Given the description of an element on the screen output the (x, y) to click on. 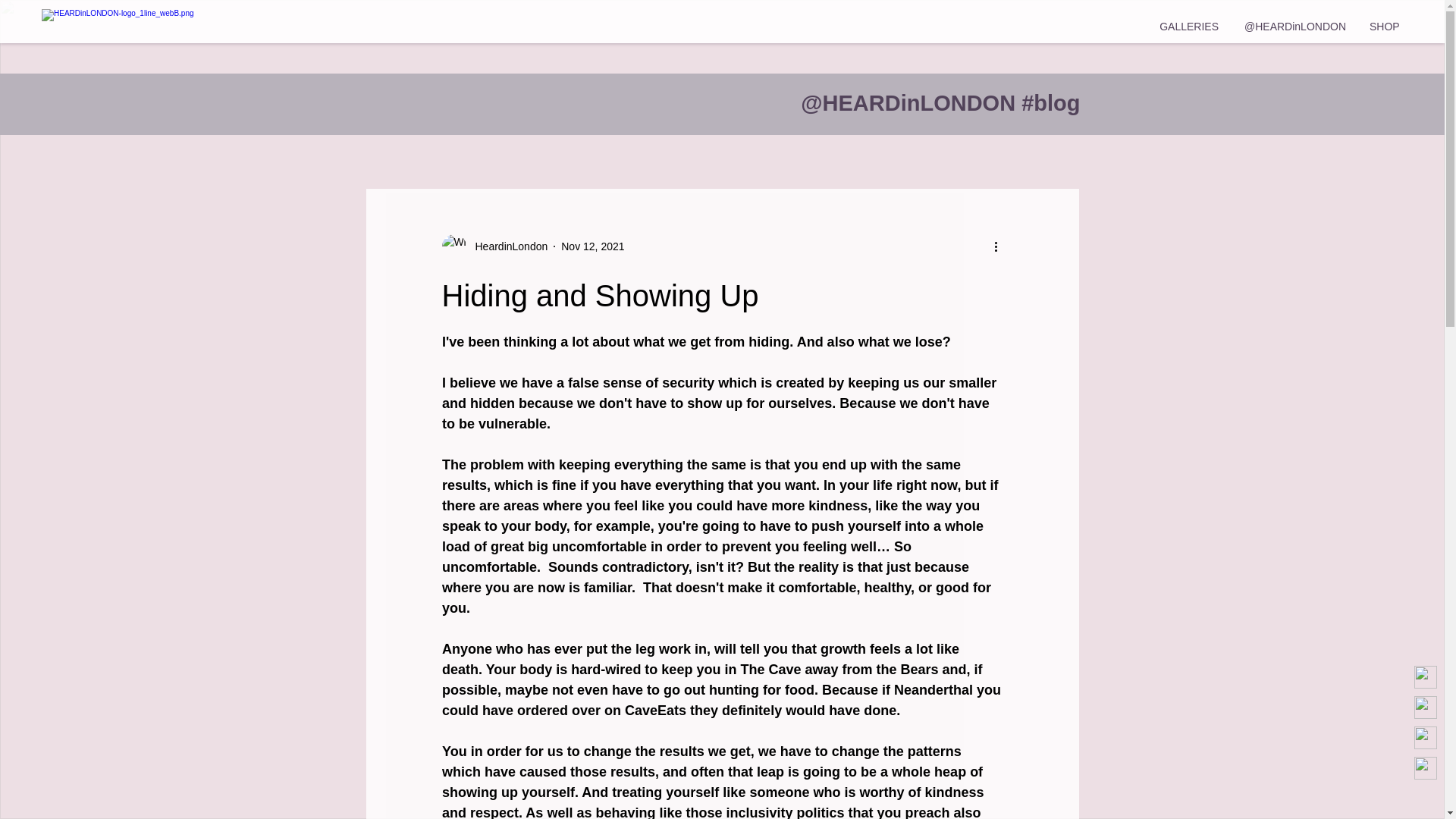
Nov 12, 2021 (592, 245)
HeardinLondon (494, 246)
HeardinLondon (506, 245)
home (178, 22)
